Given the description of an element on the screen output the (x, y) to click on. 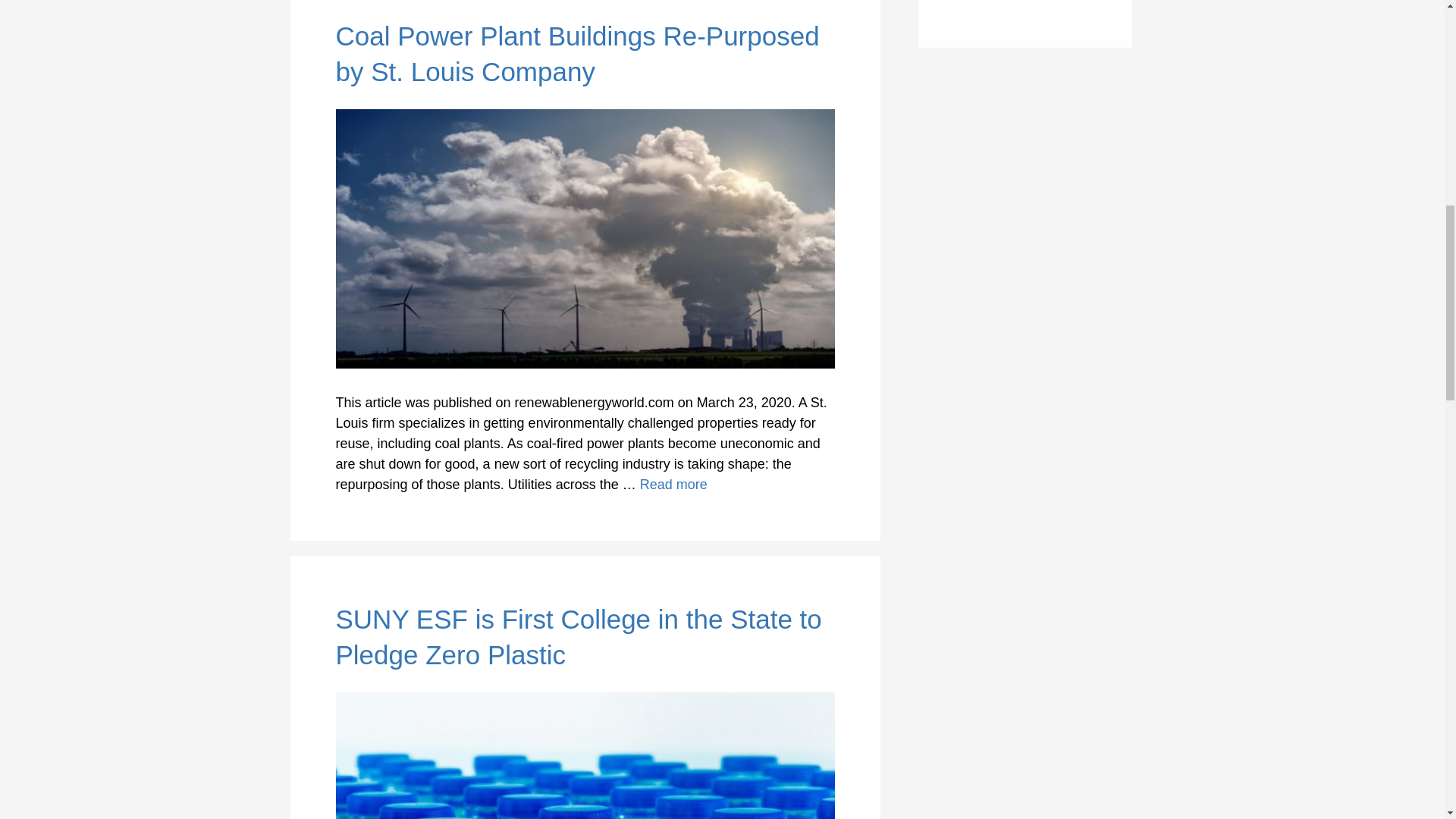
Scroll back to top (1406, 720)
Coal Power Plant Buildings Re-Purposed by St. Louis Company (673, 484)
Read more (673, 484)
Coal Power Plant Buildings Re-Purposed by St. Louis Company (576, 53)
